Given the description of an element on the screen output the (x, y) to click on. 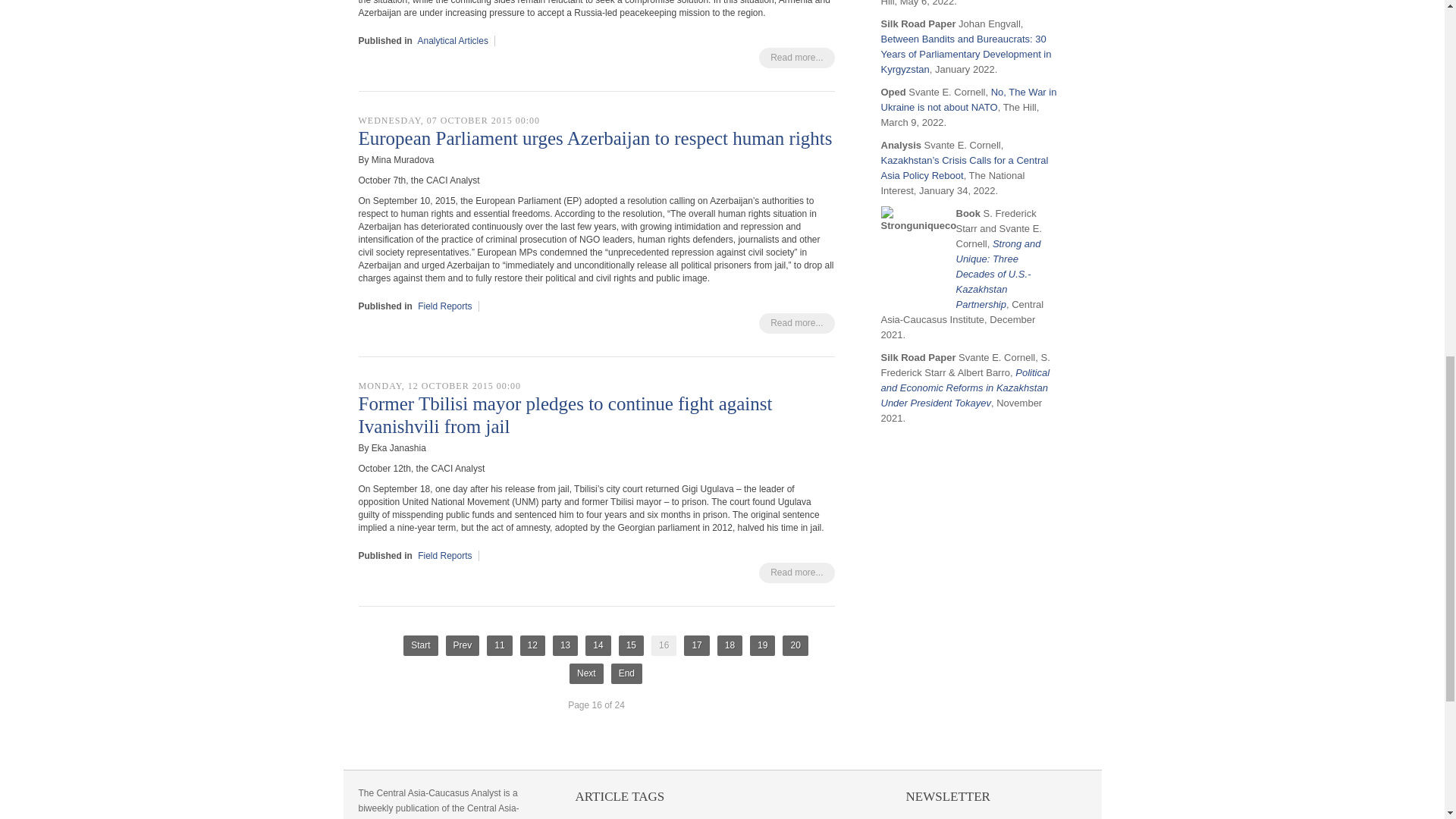
Prev (462, 645)
Prev (462, 645)
12 (531, 645)
12 (531, 645)
European Parliament urges Azerbaijan to respect human rights (594, 137)
14 (597, 645)
Analytical Articles (452, 40)
Start (420, 645)
Field Reports (444, 555)
17 (696, 645)
